Given the description of an element on the screen output the (x, y) to click on. 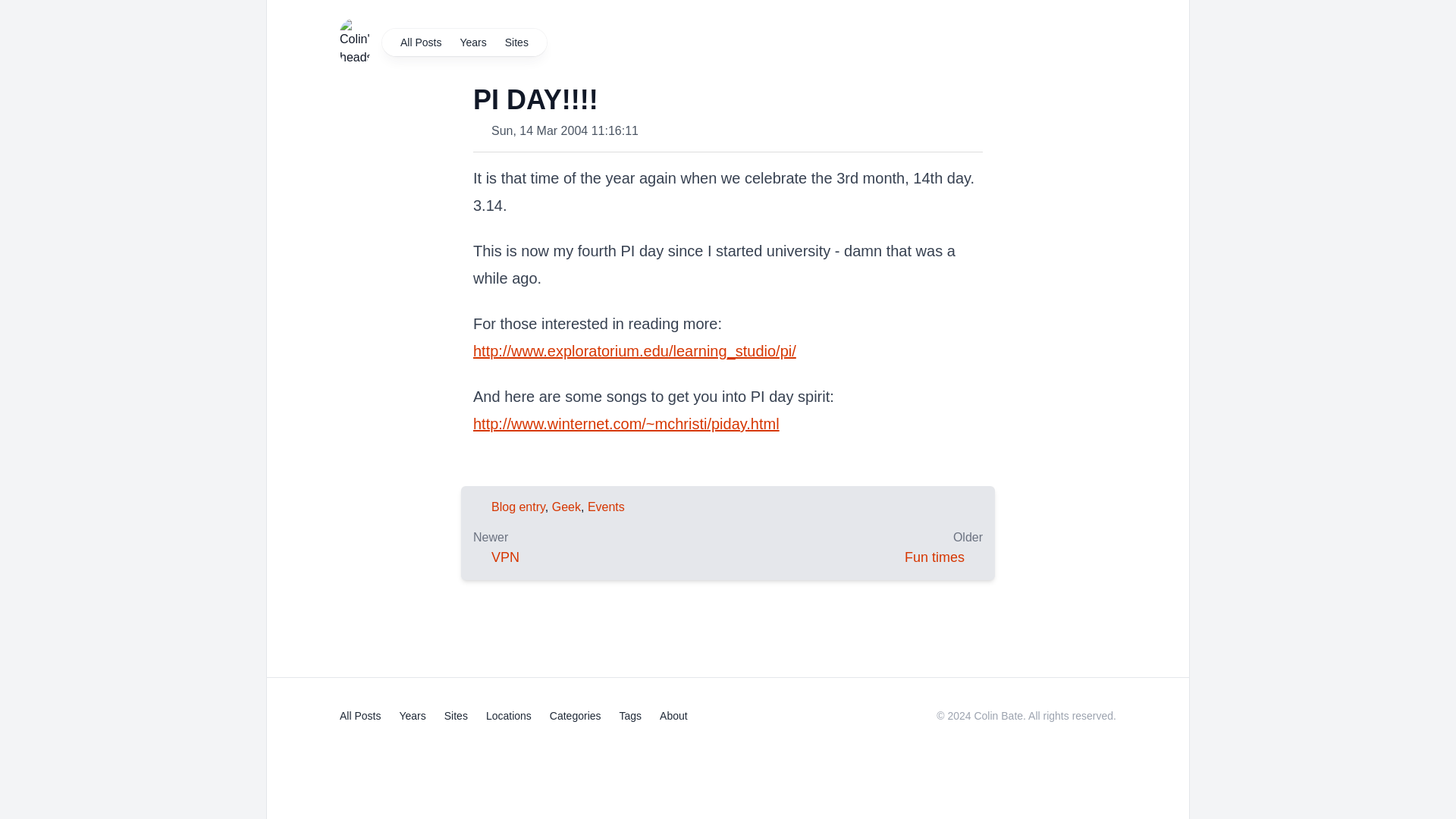
VPN (505, 557)
About (673, 715)
Events (606, 506)
Tags (631, 715)
Sites (455, 715)
Locations (508, 715)
Blog entry (518, 506)
Years (472, 42)
Categories (575, 715)
All Posts (420, 42)
